Given the description of an element on the screen output the (x, y) to click on. 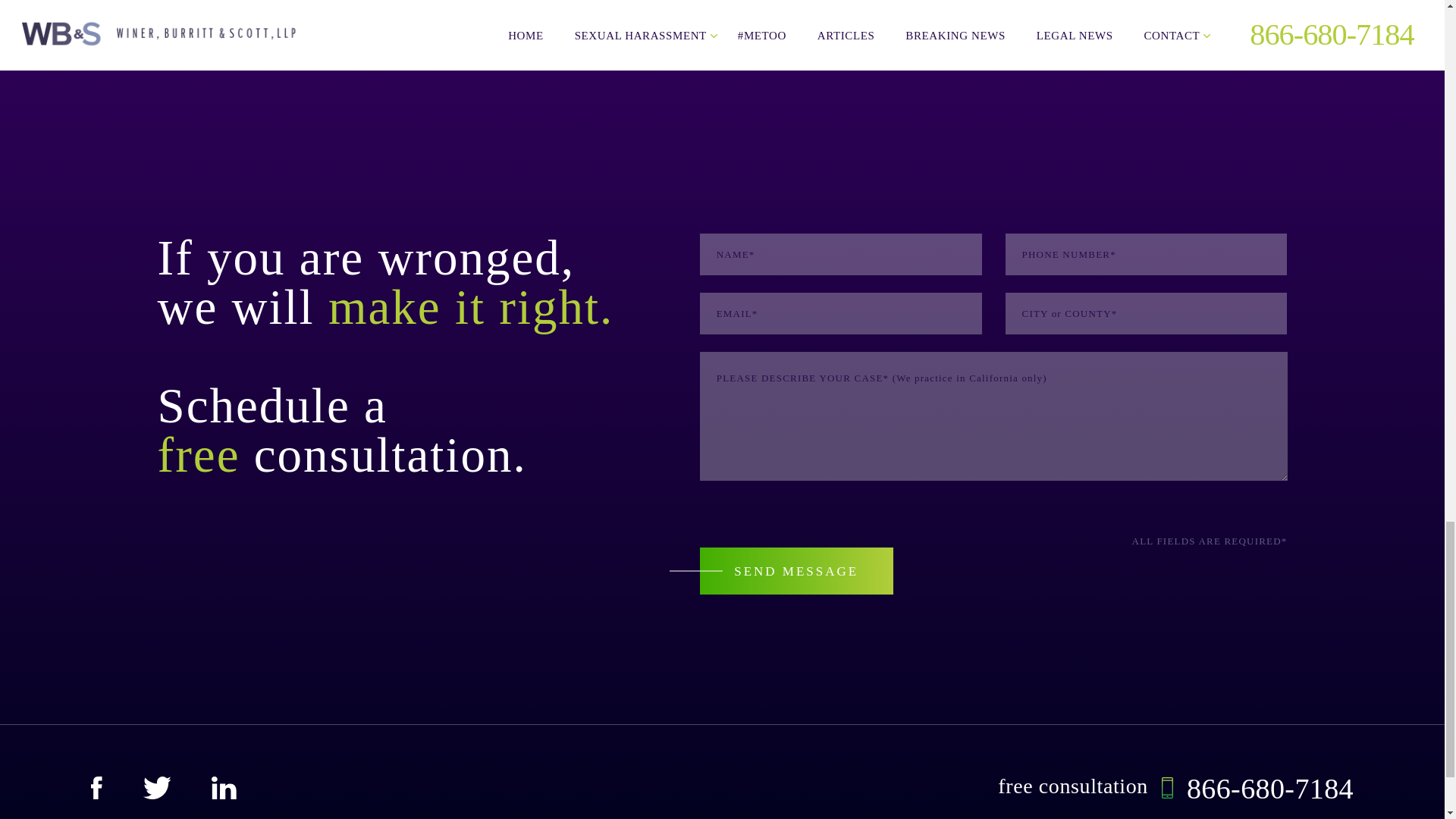
SEND MESSAGE (796, 570)
